Given the description of an element on the screen output the (x, y) to click on. 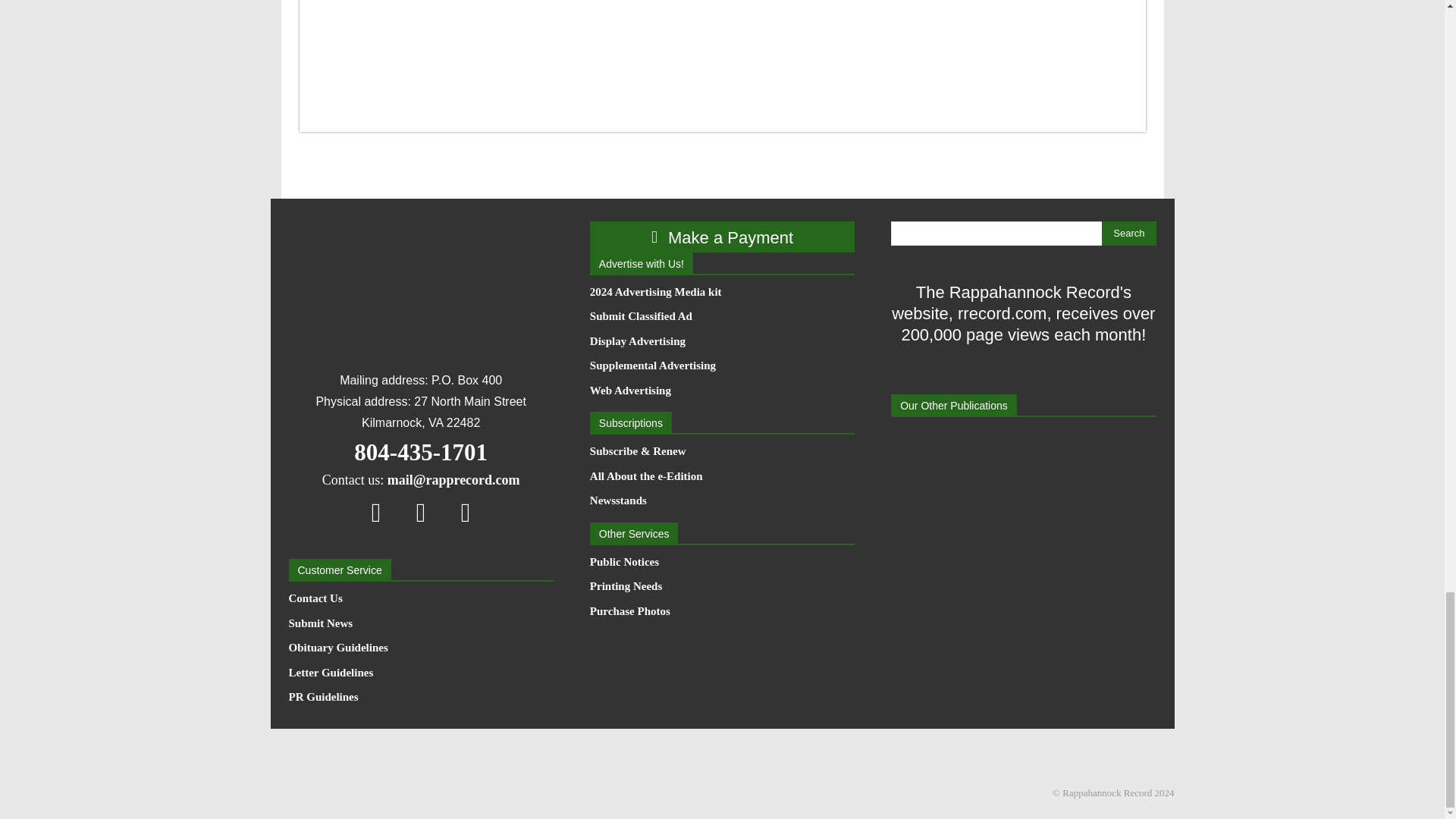
Make a Payment (721, 236)
Instagram (421, 511)
Facebook (376, 511)
Twitter (465, 511)
